Given the description of an element on the screen output the (x, y) to click on. 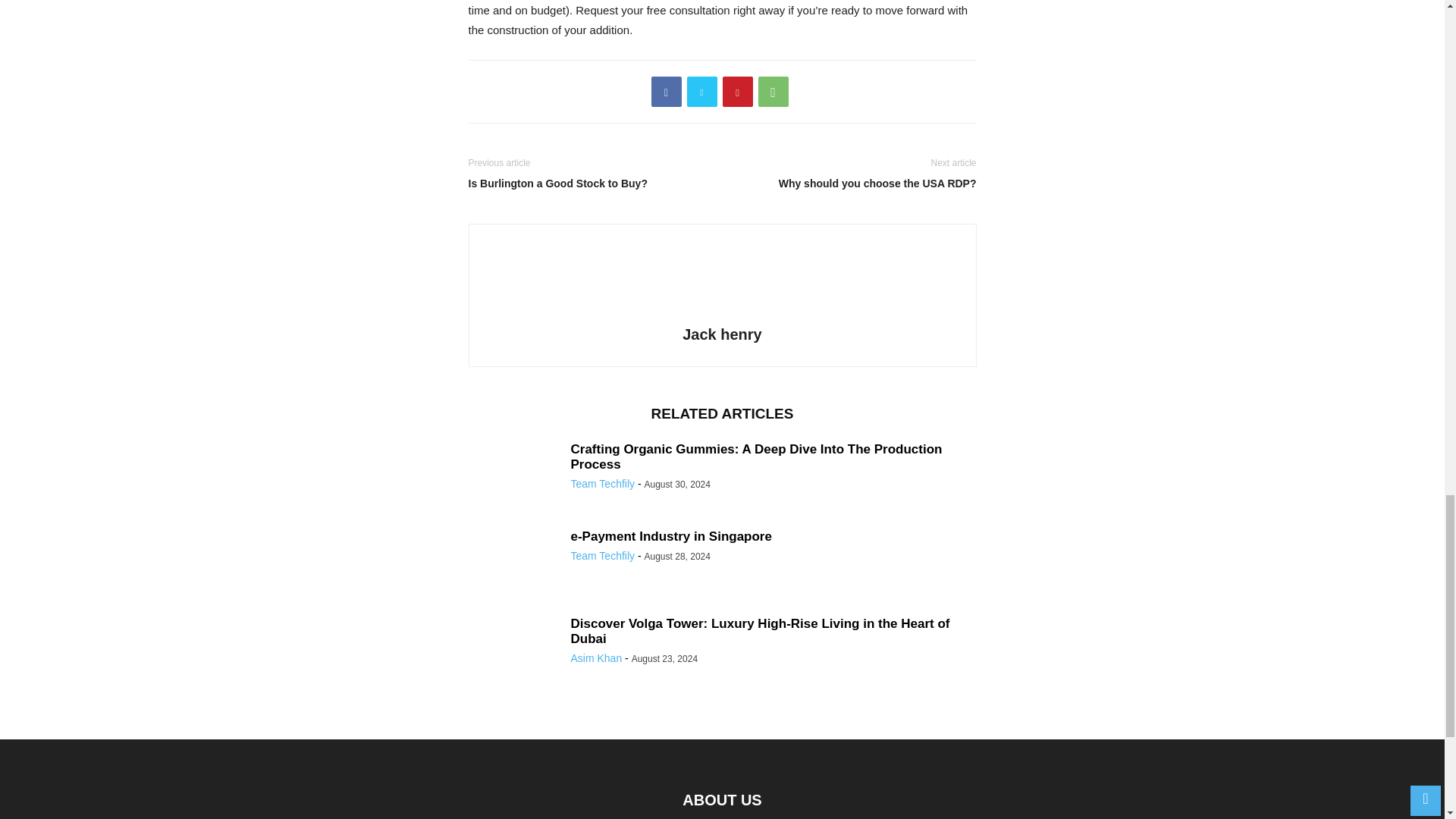
Twitter (702, 91)
WhatsApp (773, 91)
Facebook (665, 91)
Why should you choose the USA RDP? (852, 183)
Jack henry (721, 334)
Is Burlington a Good Stock to Buy? (591, 183)
Pinterest (737, 91)
Team Techfily (602, 555)
